Given the description of an element on the screen output the (x, y) to click on. 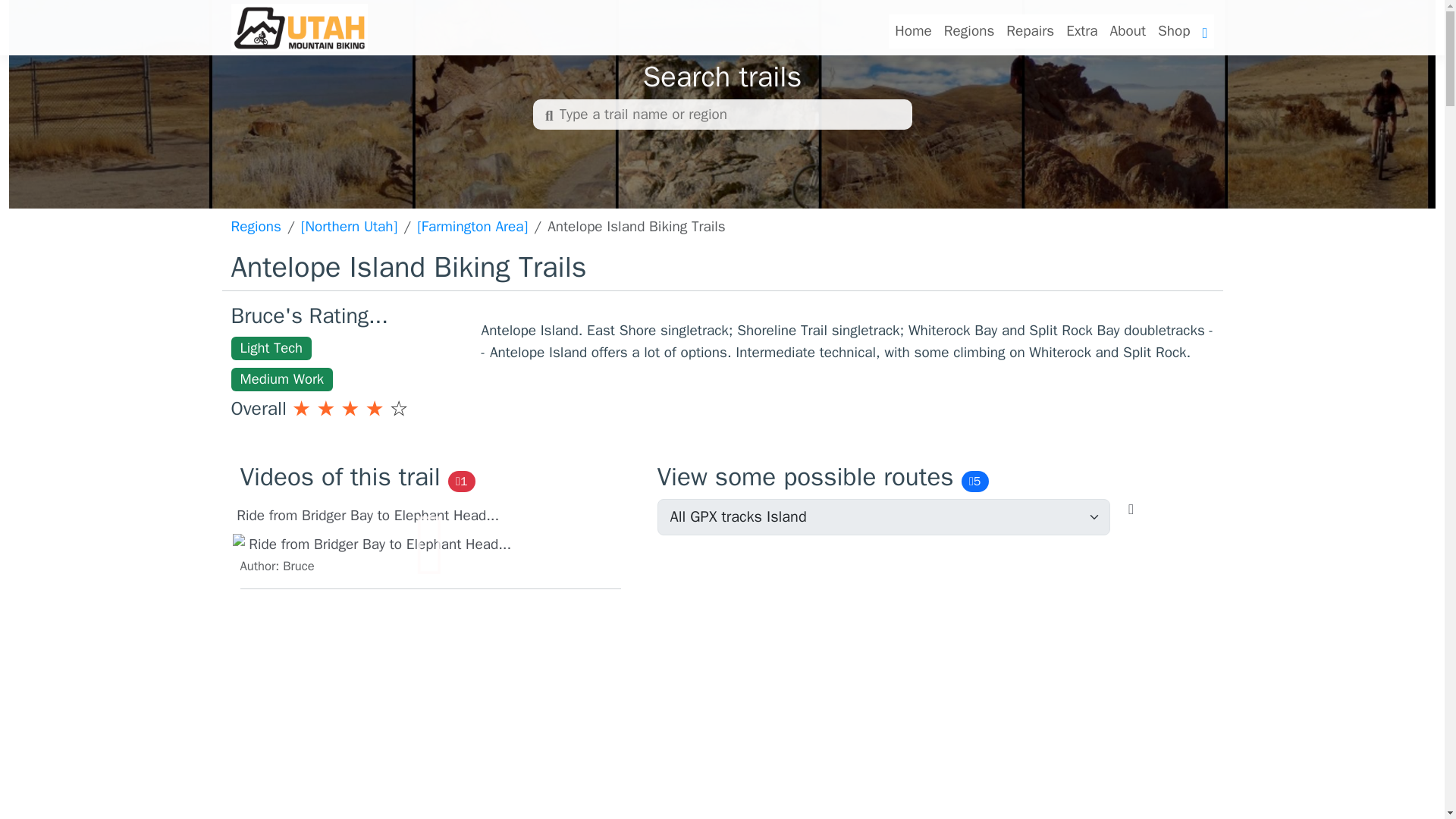
Regions (968, 31)
Repairs (1029, 31)
About (1127, 31)
Extra (430, 537)
Home (1081, 31)
Extra (912, 31)
Utah Mountain Biking (1081, 31)
Shop (298, 27)
About (1173, 31)
